Given the description of an element on the screen output the (x, y) to click on. 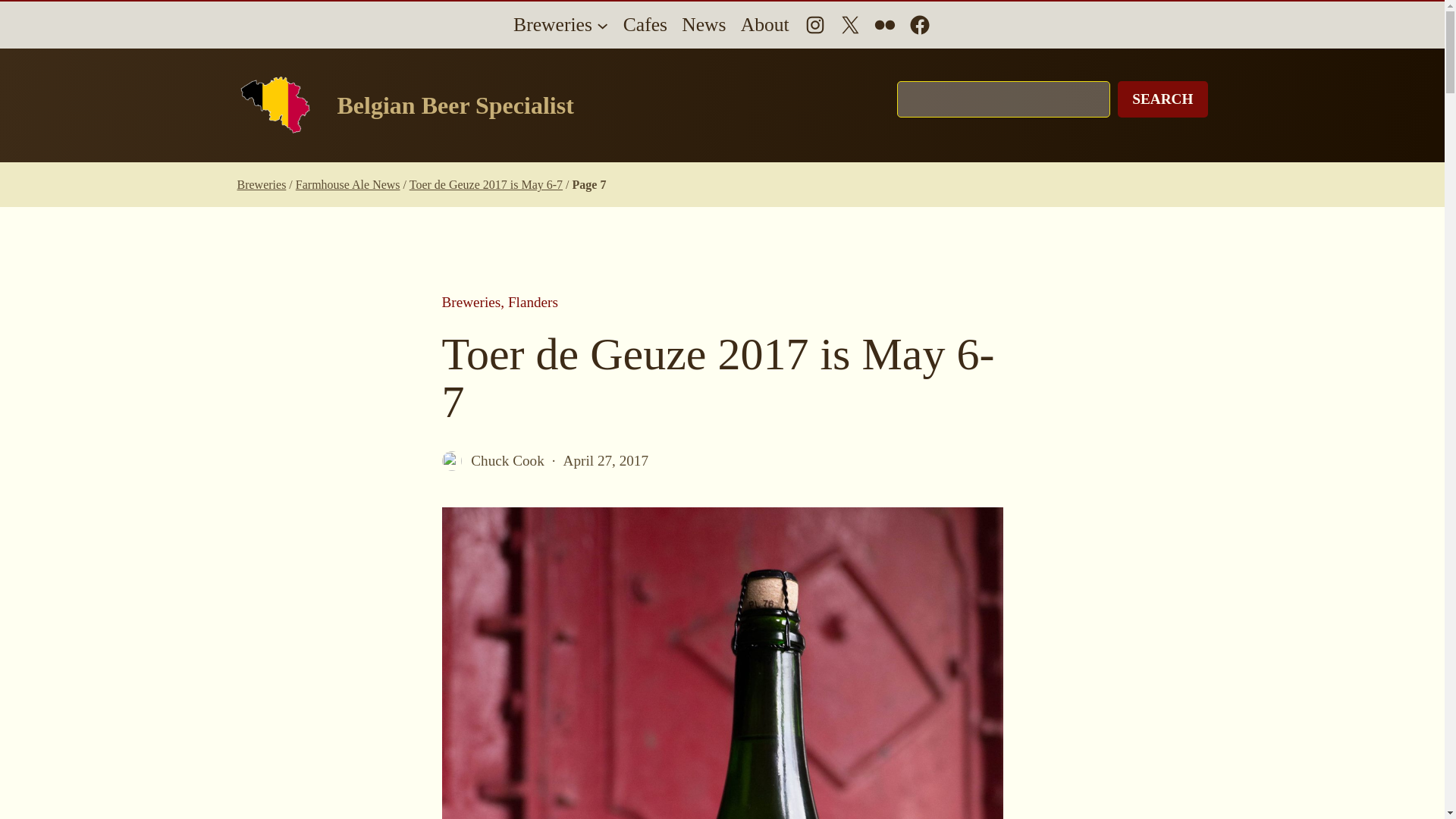
Toer de Geuze 2017 is May 6-7 (485, 184)
X (849, 24)
Instagram (815, 24)
Flickr (884, 24)
Breweries (470, 302)
Farmhouse Ale News (347, 184)
Breweries (552, 24)
SEARCH (1162, 99)
Belgian Beer Specialist (454, 104)
Flanders (532, 302)
News (703, 24)
About (765, 24)
Facebook (919, 24)
Breweries (260, 184)
Cafes (644, 24)
